Given the description of an element on the screen output the (x, y) to click on. 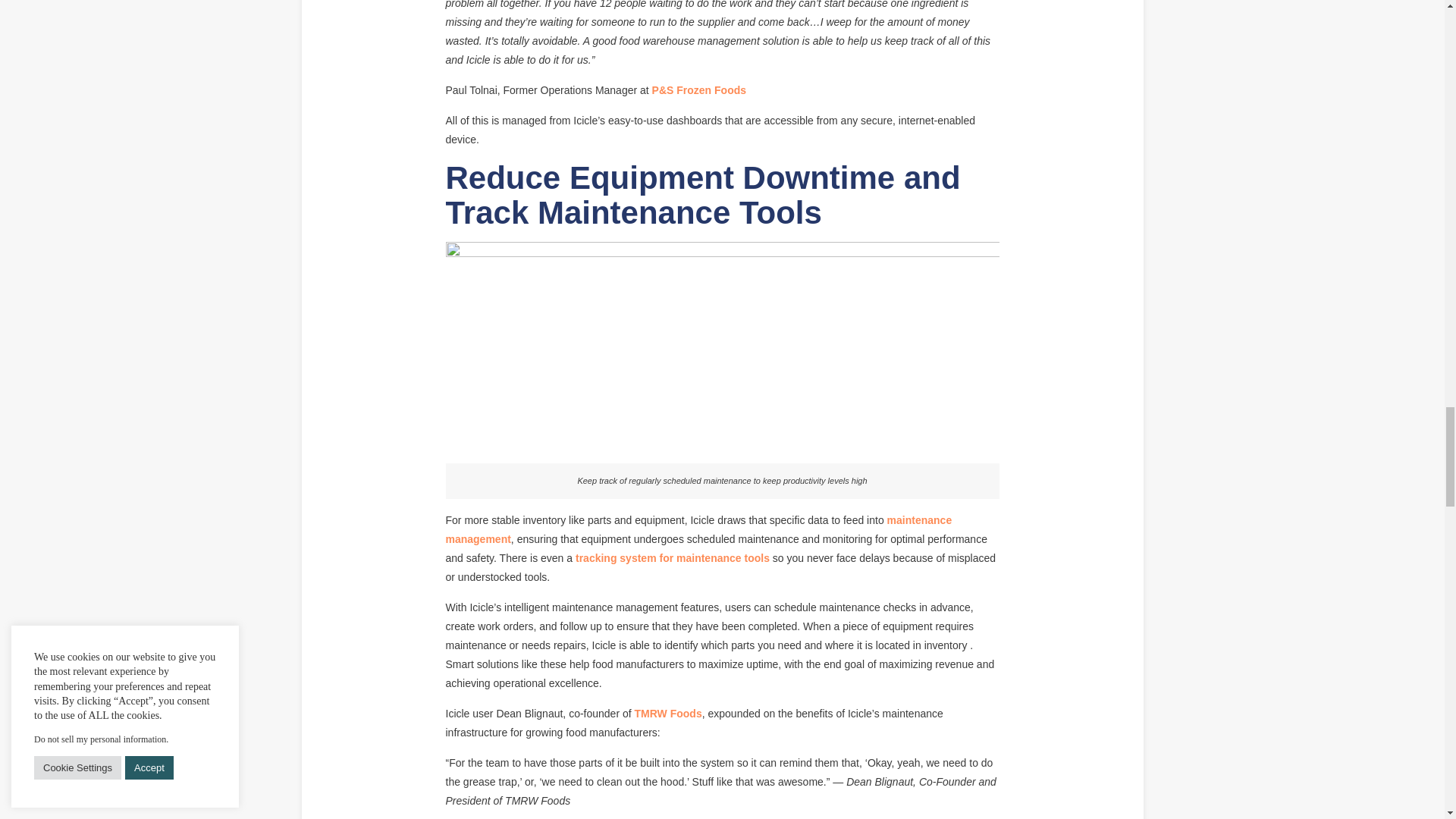
maintenance management (698, 529)
